Given the description of an element on the screen output the (x, y) to click on. 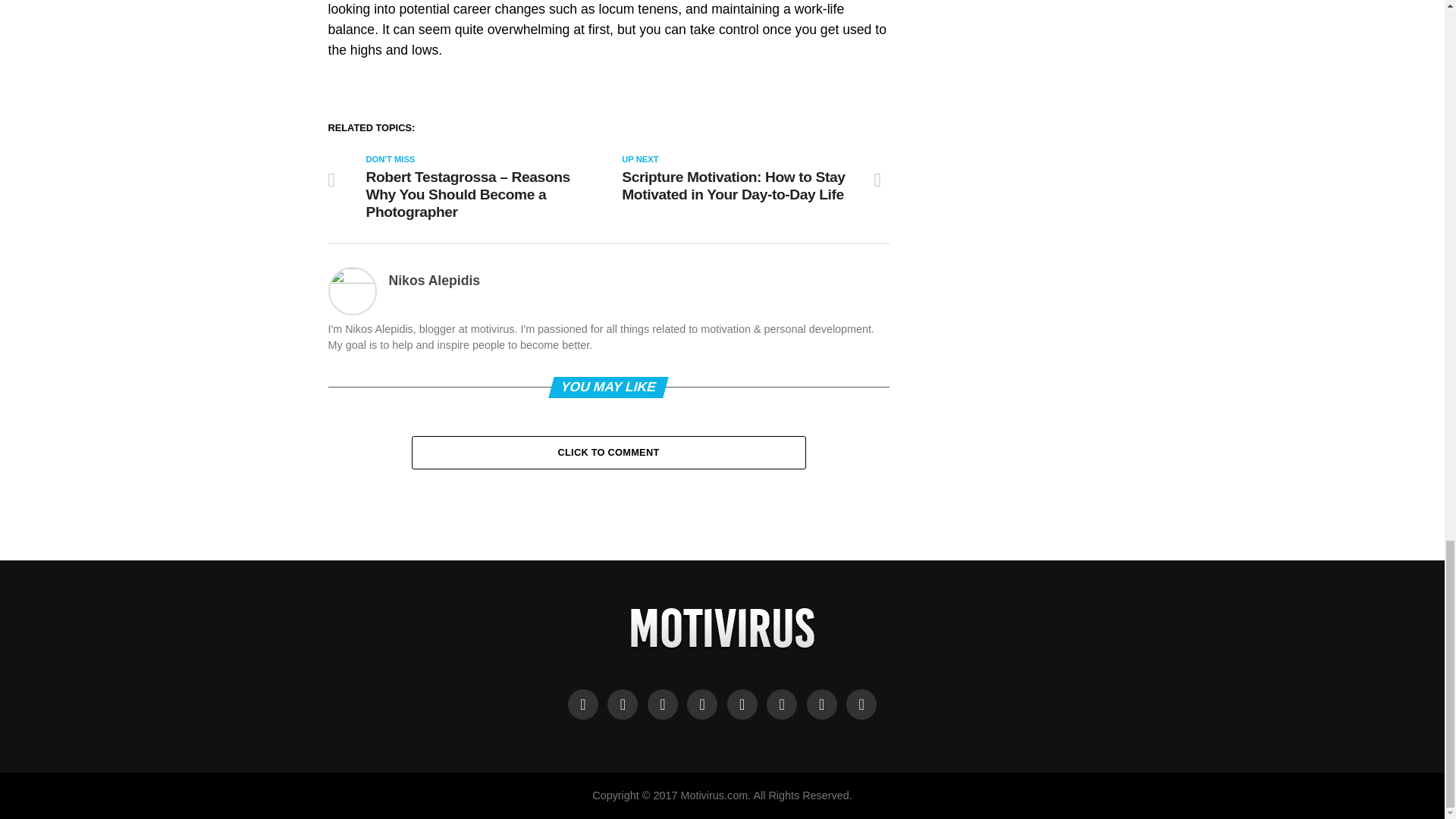
Posts by Nikos Alepidis (434, 280)
